Given the description of an element on the screen output the (x, y) to click on. 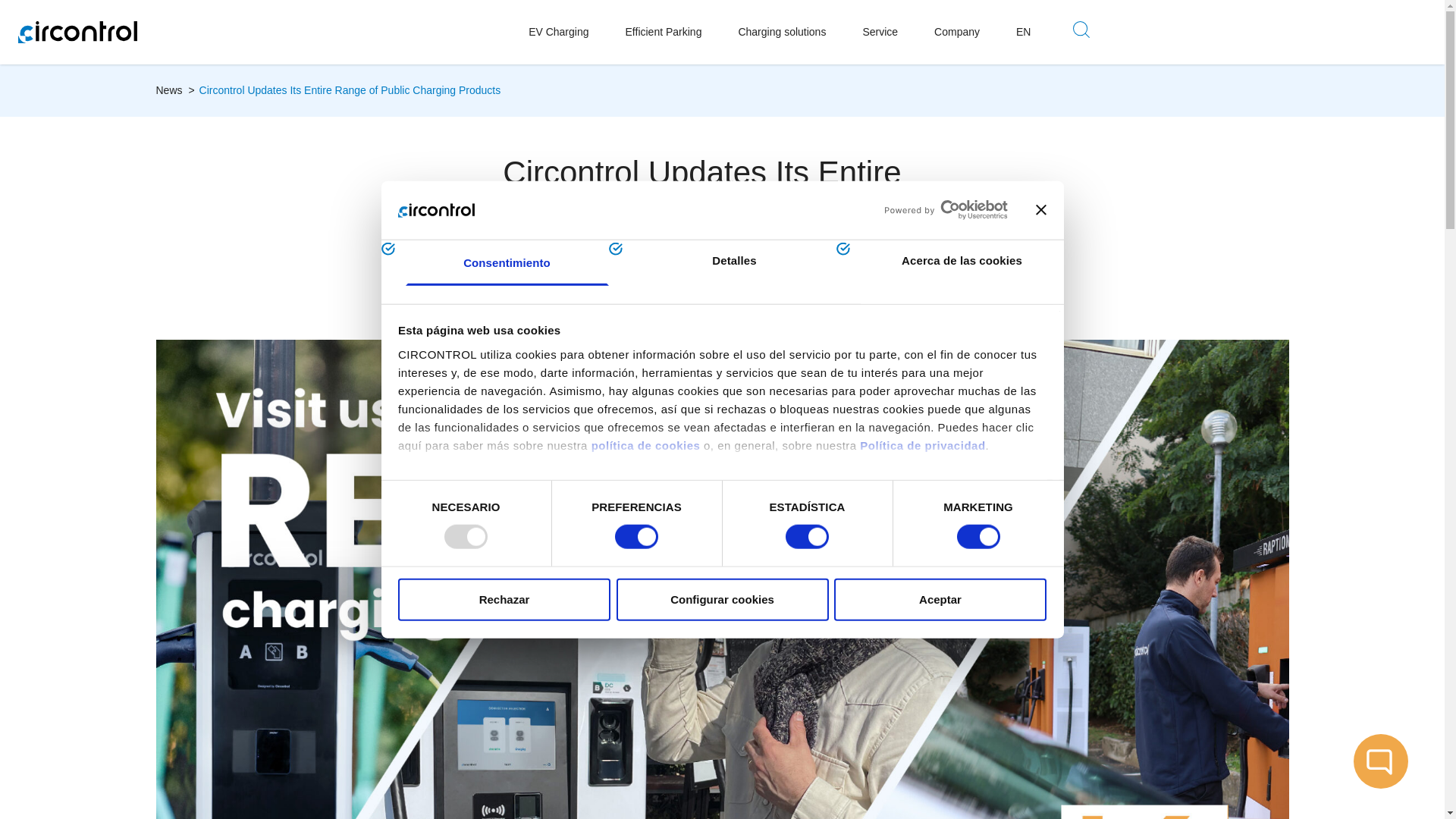
Acerca de las cookies (961, 271)
Detalles (733, 262)
Consentimiento (506, 262)
